Given the description of an element on the screen output the (x, y) to click on. 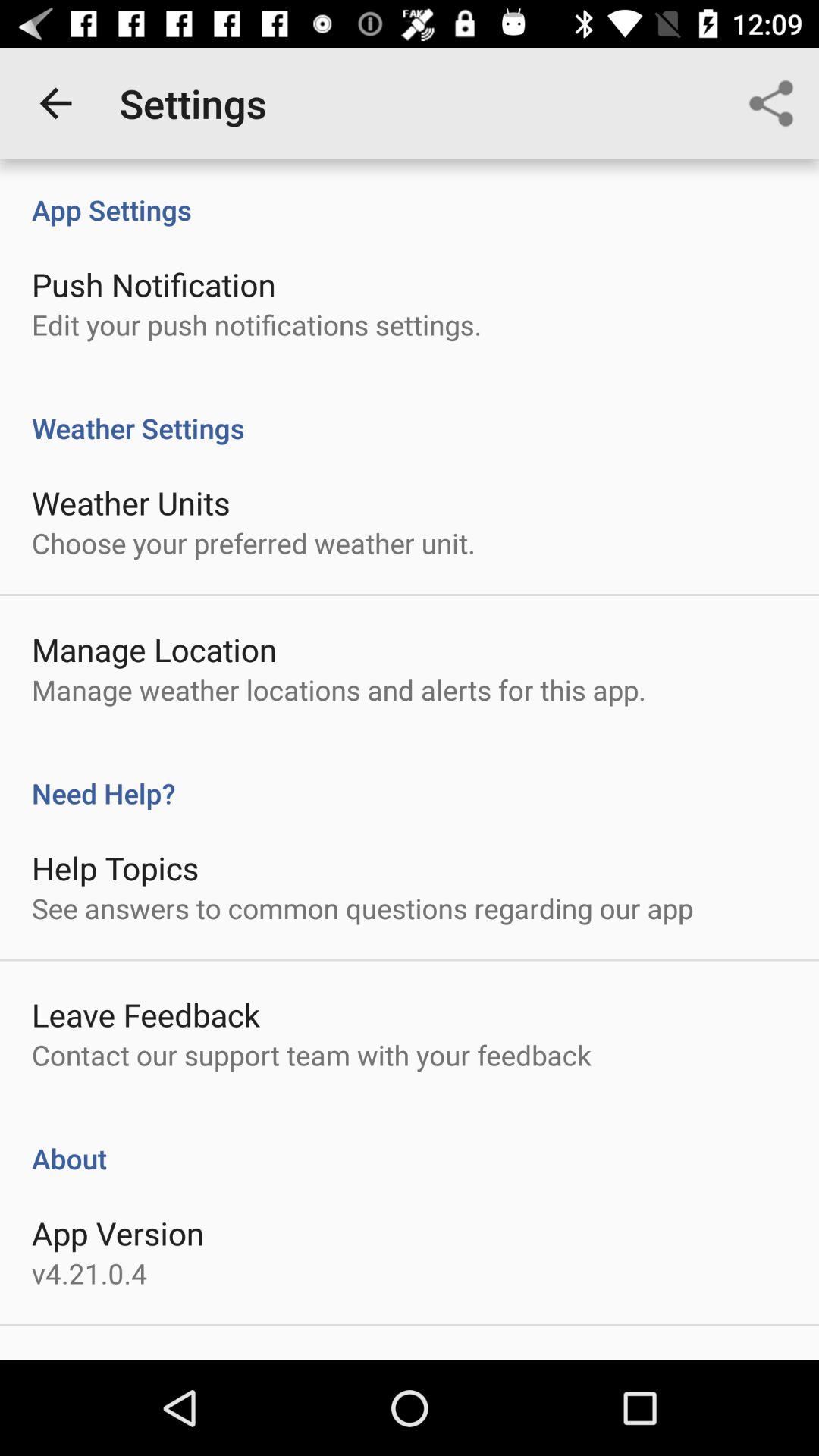
click app settings icon (409, 193)
